Given the description of an element on the screen output the (x, y) to click on. 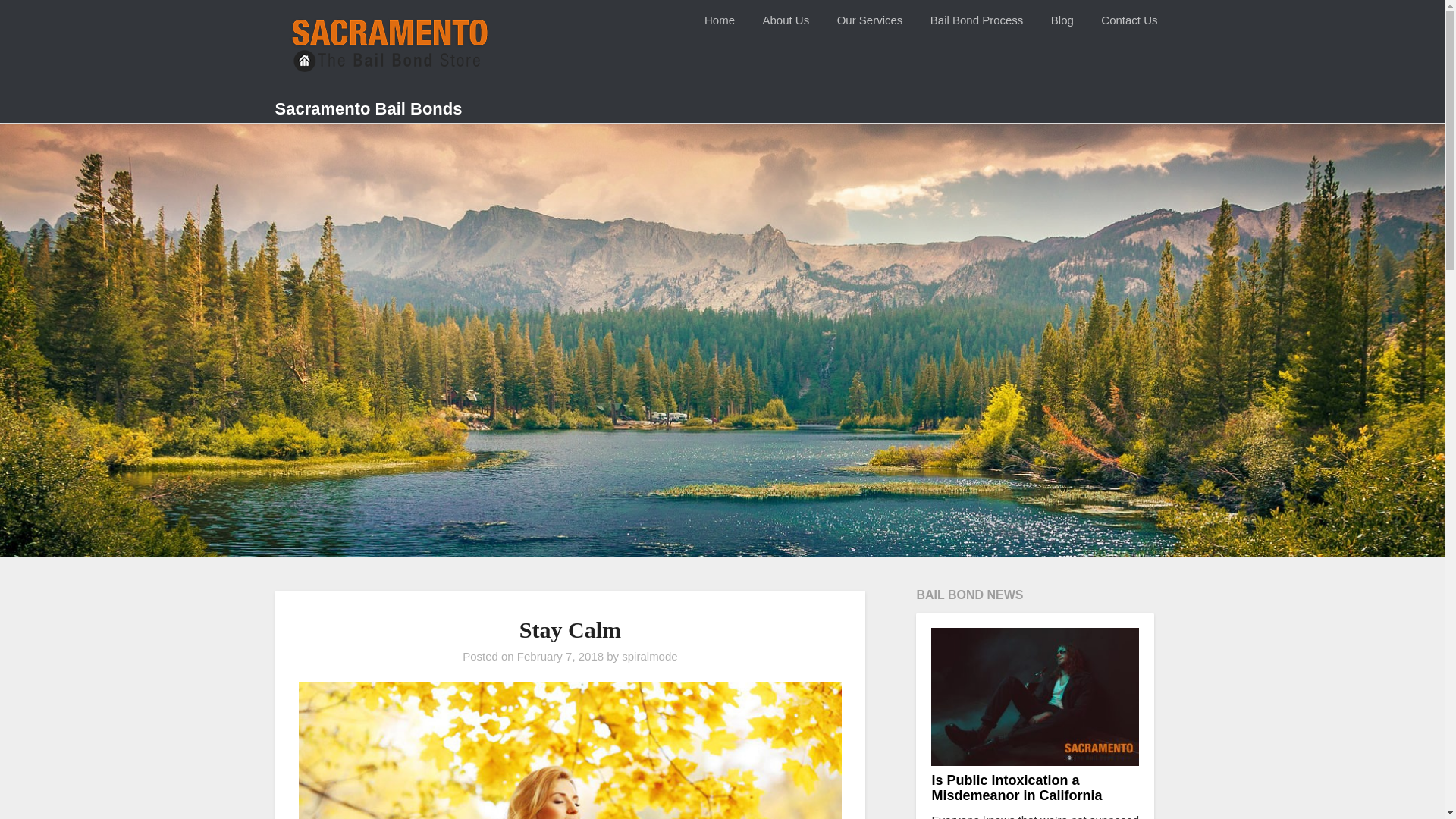
Our Services (870, 20)
Sacramento Bail Bonds (368, 108)
February 7, 2018 (560, 656)
Contact Us (1129, 20)
Is Public Intoxication a Misdemeanor in California (1016, 788)
Blog (1062, 20)
Bail Bond Process (976, 20)
About Us (785, 20)
spiralmode (649, 656)
Home (719, 20)
